Given the description of an element on the screen output the (x, y) to click on. 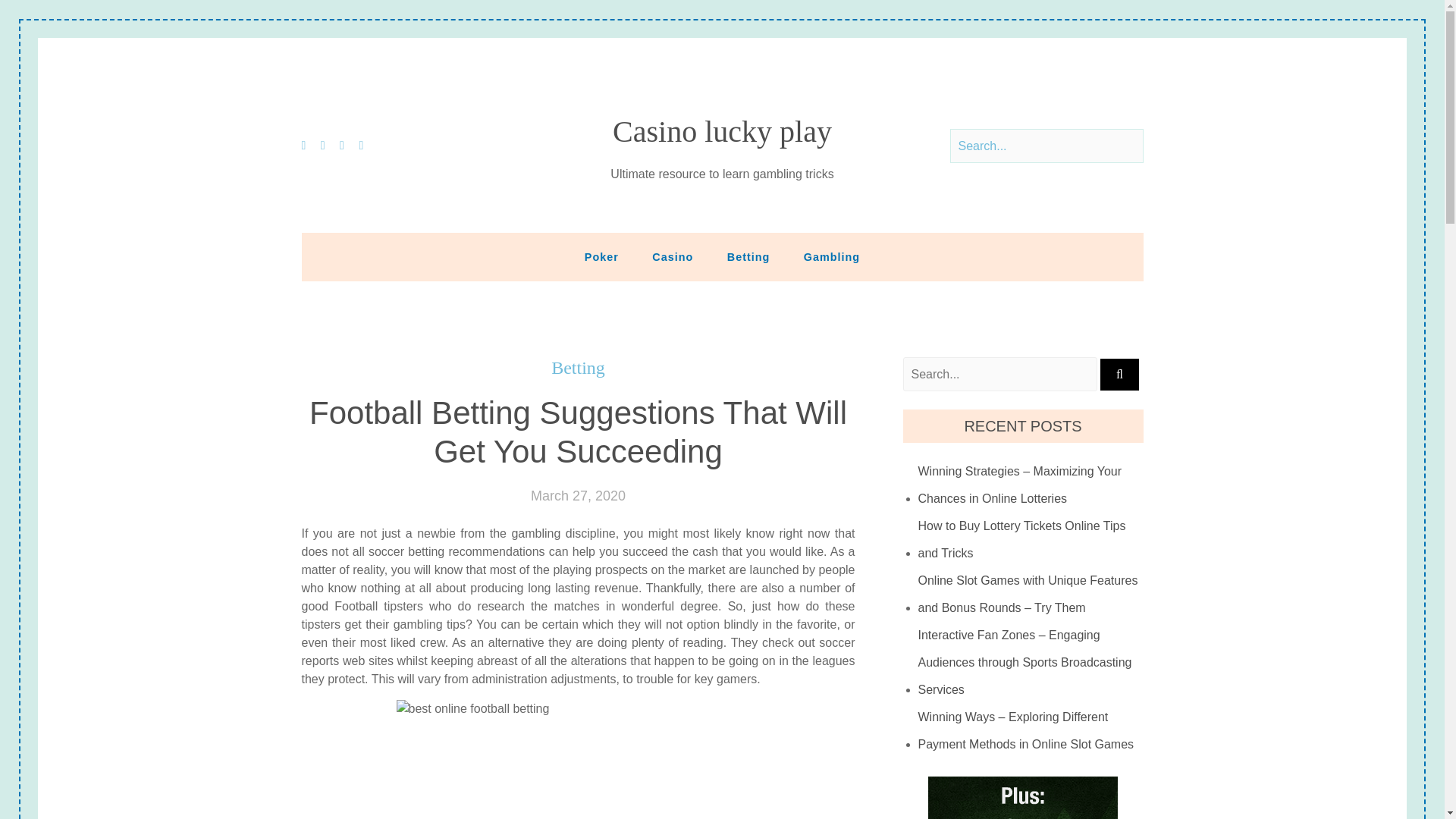
Casino (672, 256)
Gambling (832, 256)
Betting (748, 256)
Betting (578, 368)
Poker (601, 256)
Casino lucky play (721, 131)
March 27, 2020 (578, 496)
How to Buy Lottery Tickets Online Tips and Tricks (1030, 539)
